Given the description of an element on the screen output the (x, y) to click on. 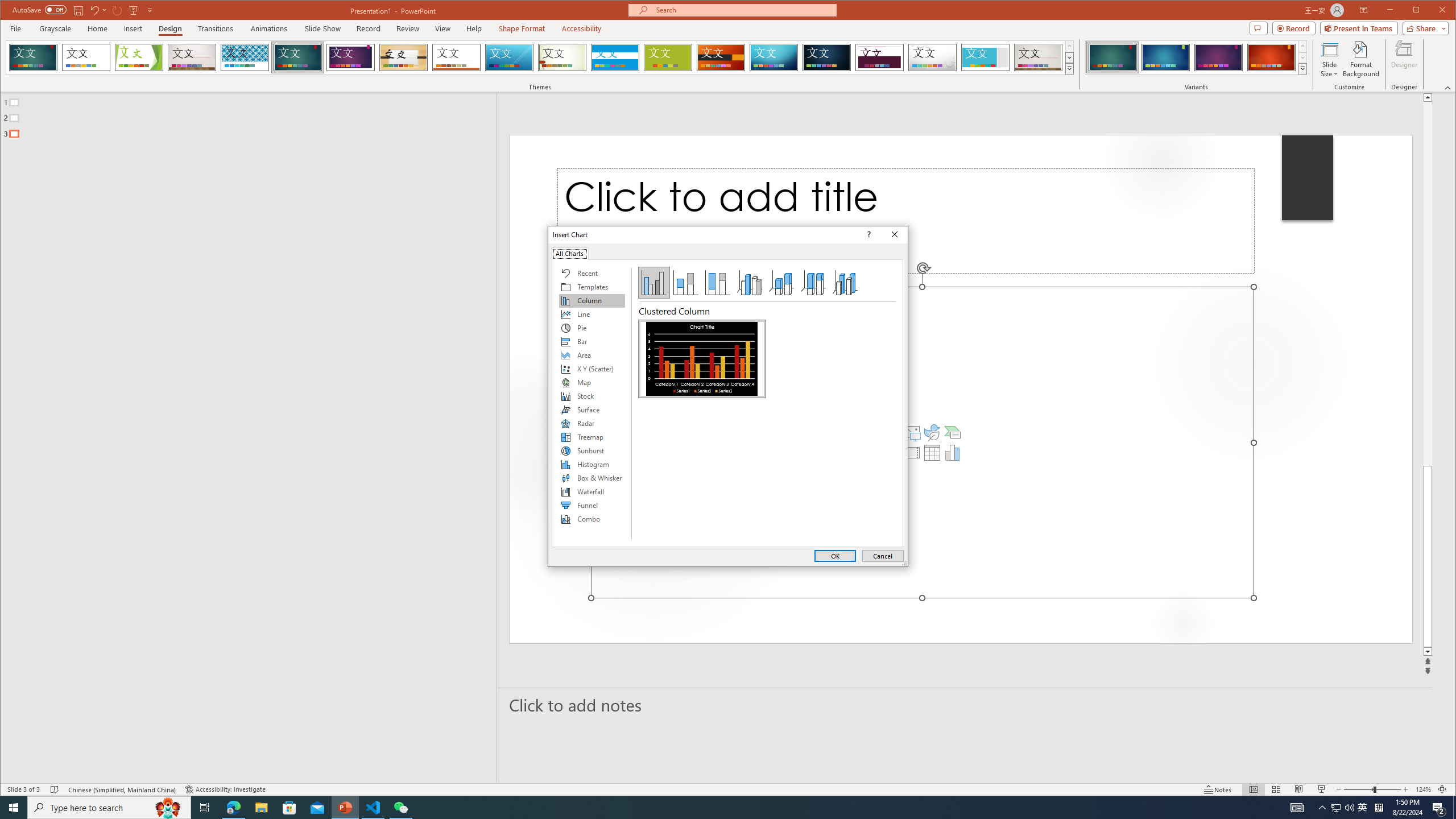
Ion Boardroom (350, 57)
Frame (985, 57)
Clustered Column (701, 358)
Surface (591, 409)
Stacked Column (685, 282)
Wisp (561, 57)
Stock (591, 395)
